Given the description of an element on the screen output the (x, y) to click on. 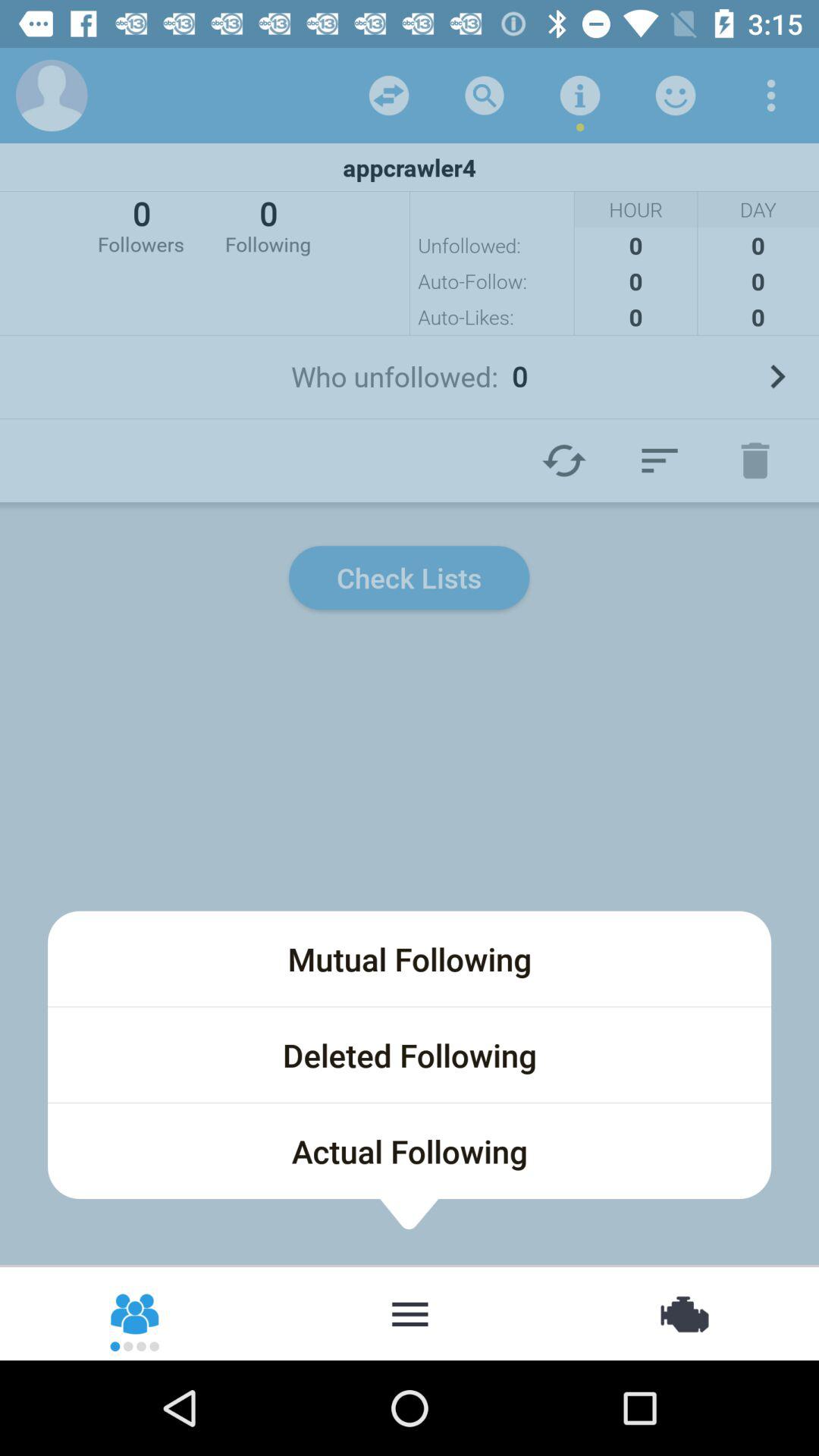
toggle burger menu for following (409, 1312)
